Given the description of an element on the screen output the (x, y) to click on. 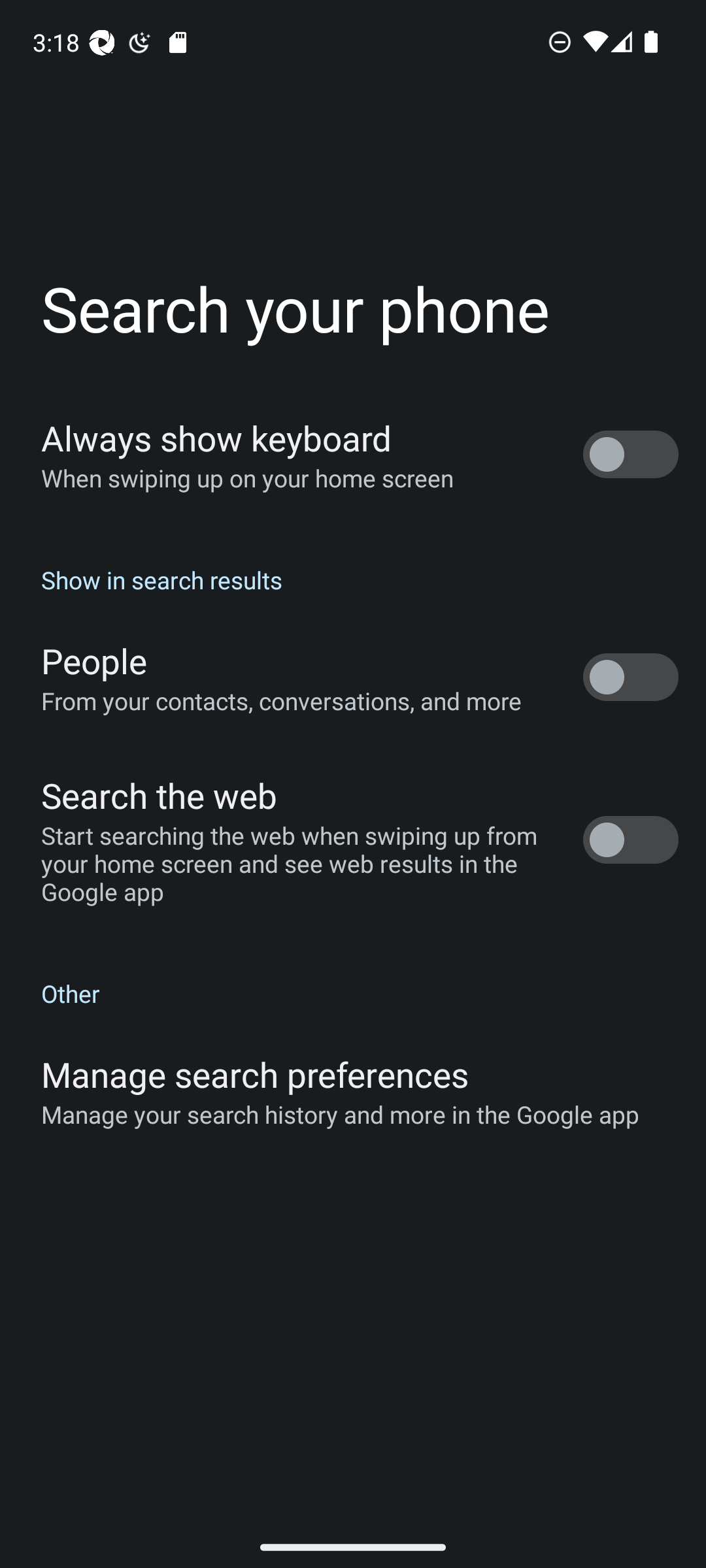
People From your contacts, conversations, and more (353, 676)
